Given the description of an element on the screen output the (x, y) to click on. 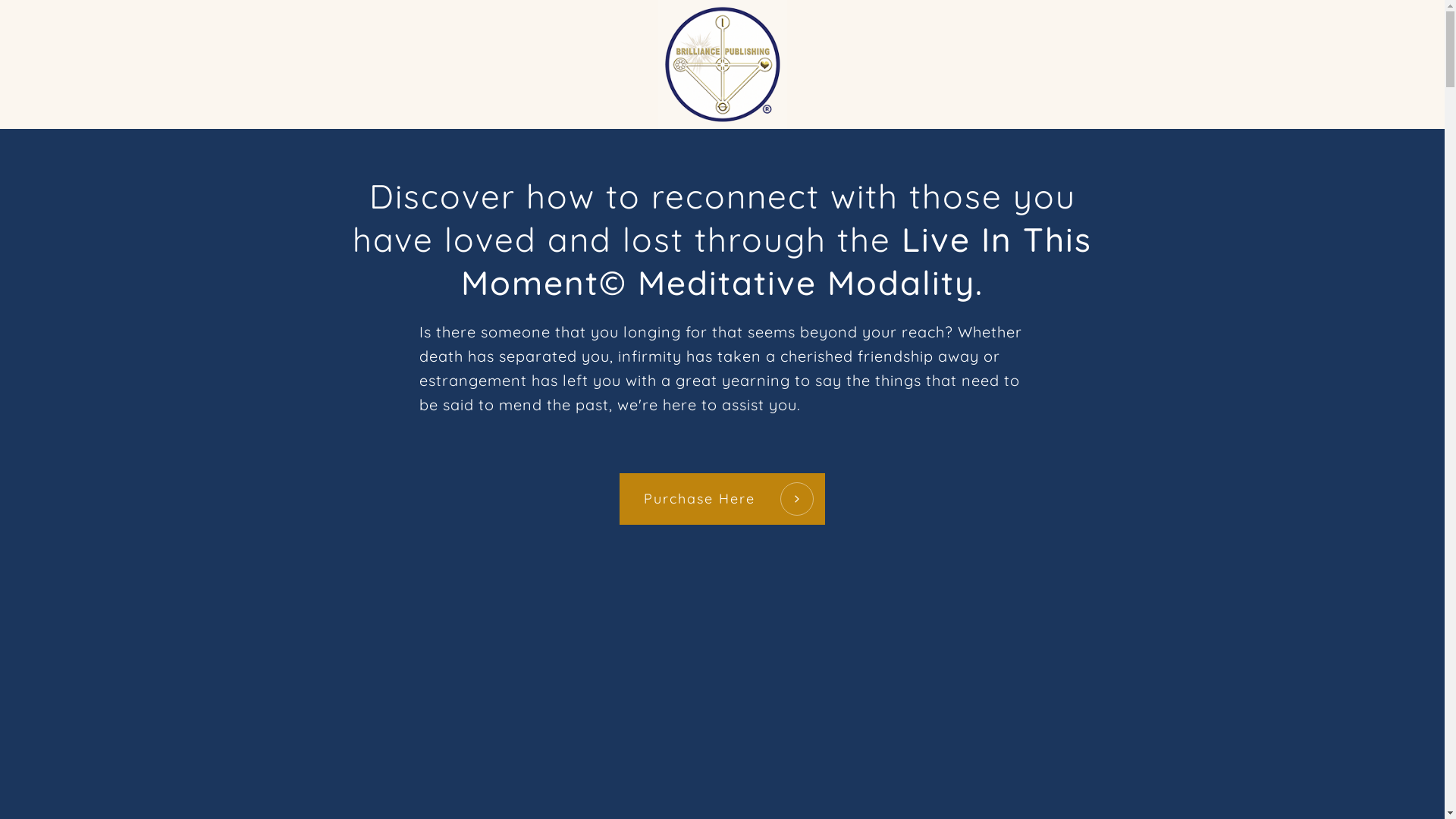
BRILLIANCE PUBLISHING_Web200_My Brilliance Pty Ltd Element type: hover (722, 64)
Purchase Here Element type: text (721, 498)
